Given the description of an element on the screen output the (x, y) to click on. 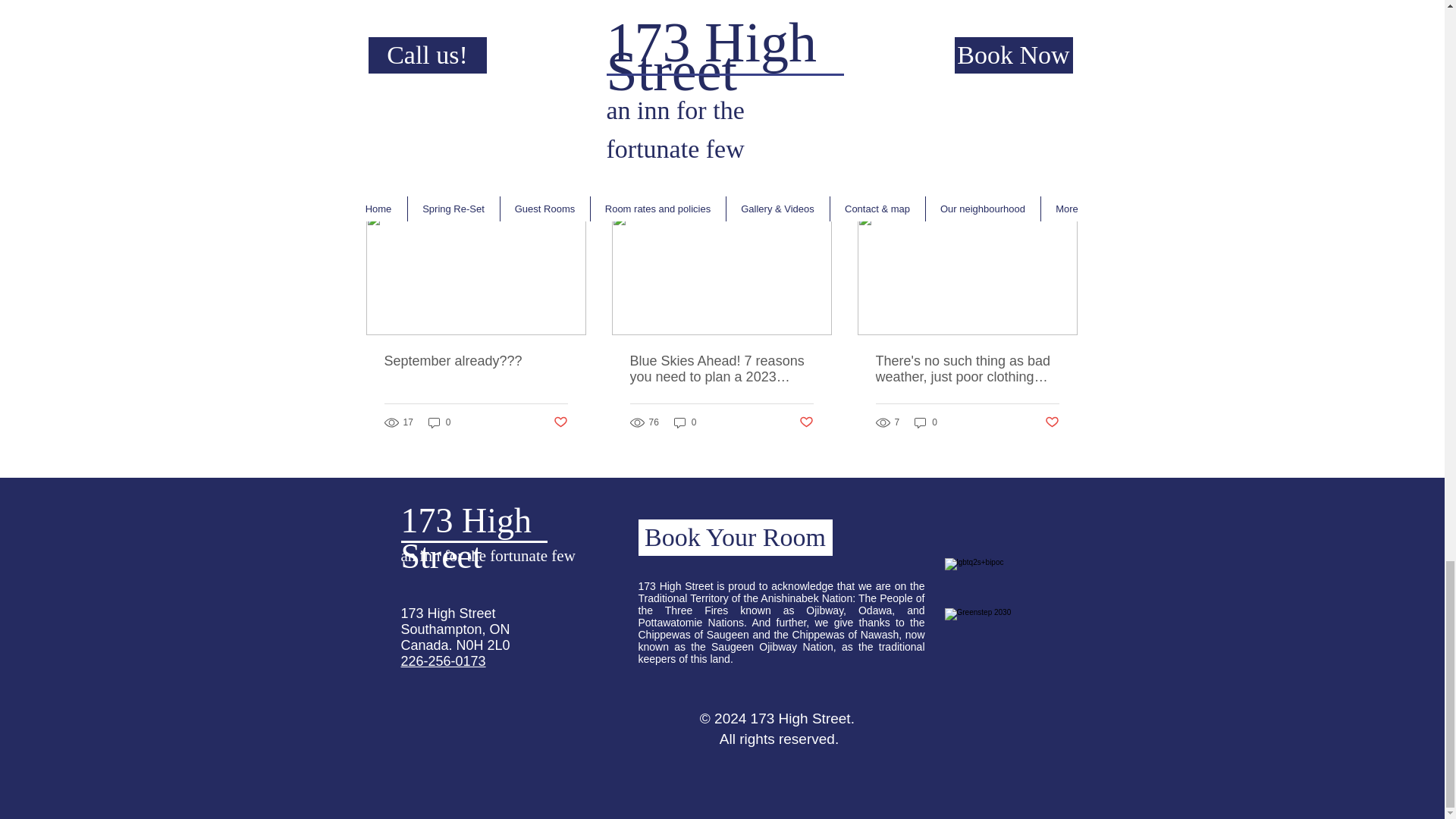
Post not marked as liked (560, 422)
September already??? (475, 360)
0 (439, 422)
Post not marked as liked (995, 103)
See All (1061, 185)
